Given the description of an element on the screen output the (x, y) to click on. 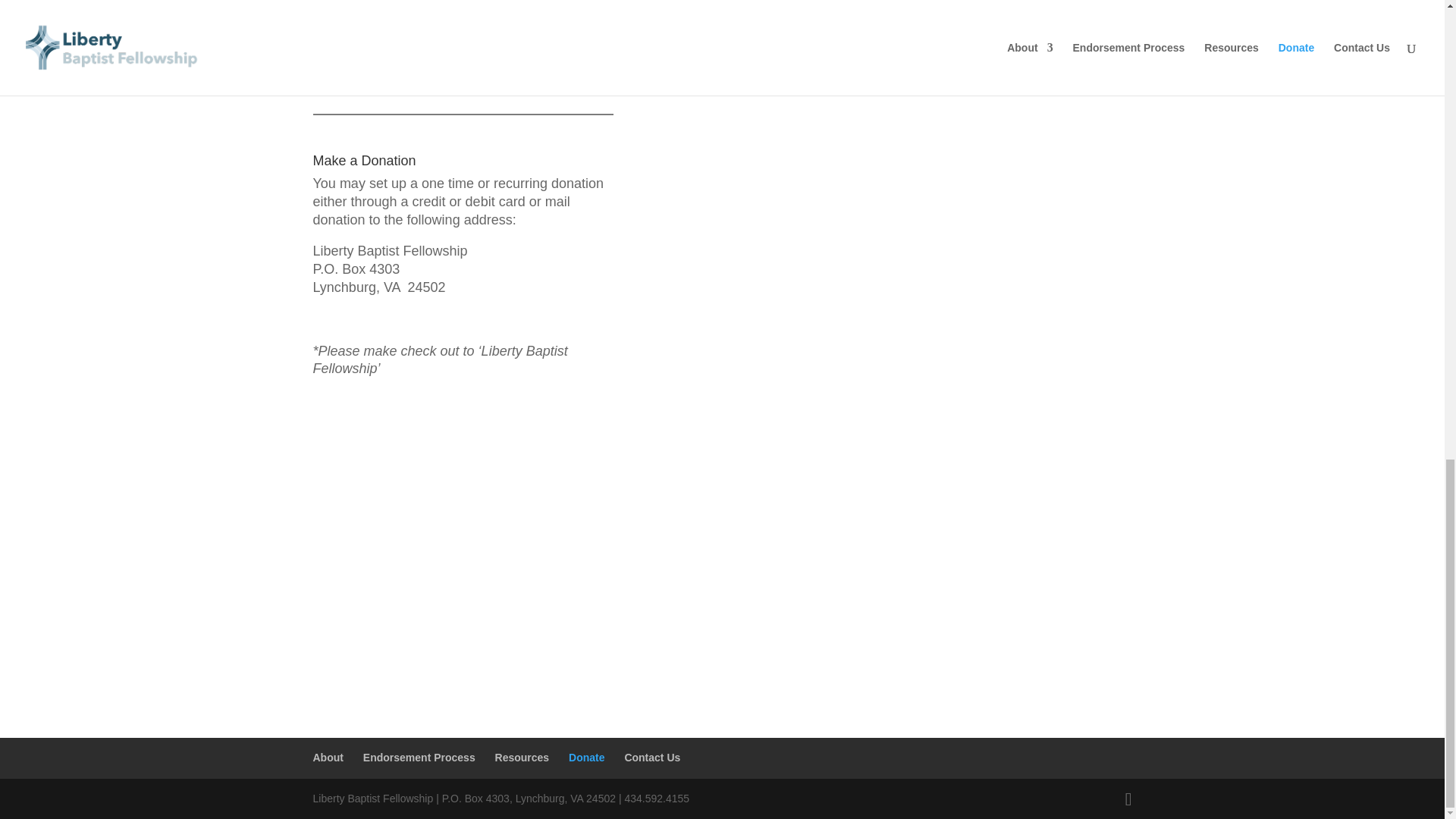
Resources (522, 757)
Contact Us (651, 757)
Donate (586, 757)
About (327, 757)
Endorsement Process (419, 757)
